Given the description of an element on the screen output the (x, y) to click on. 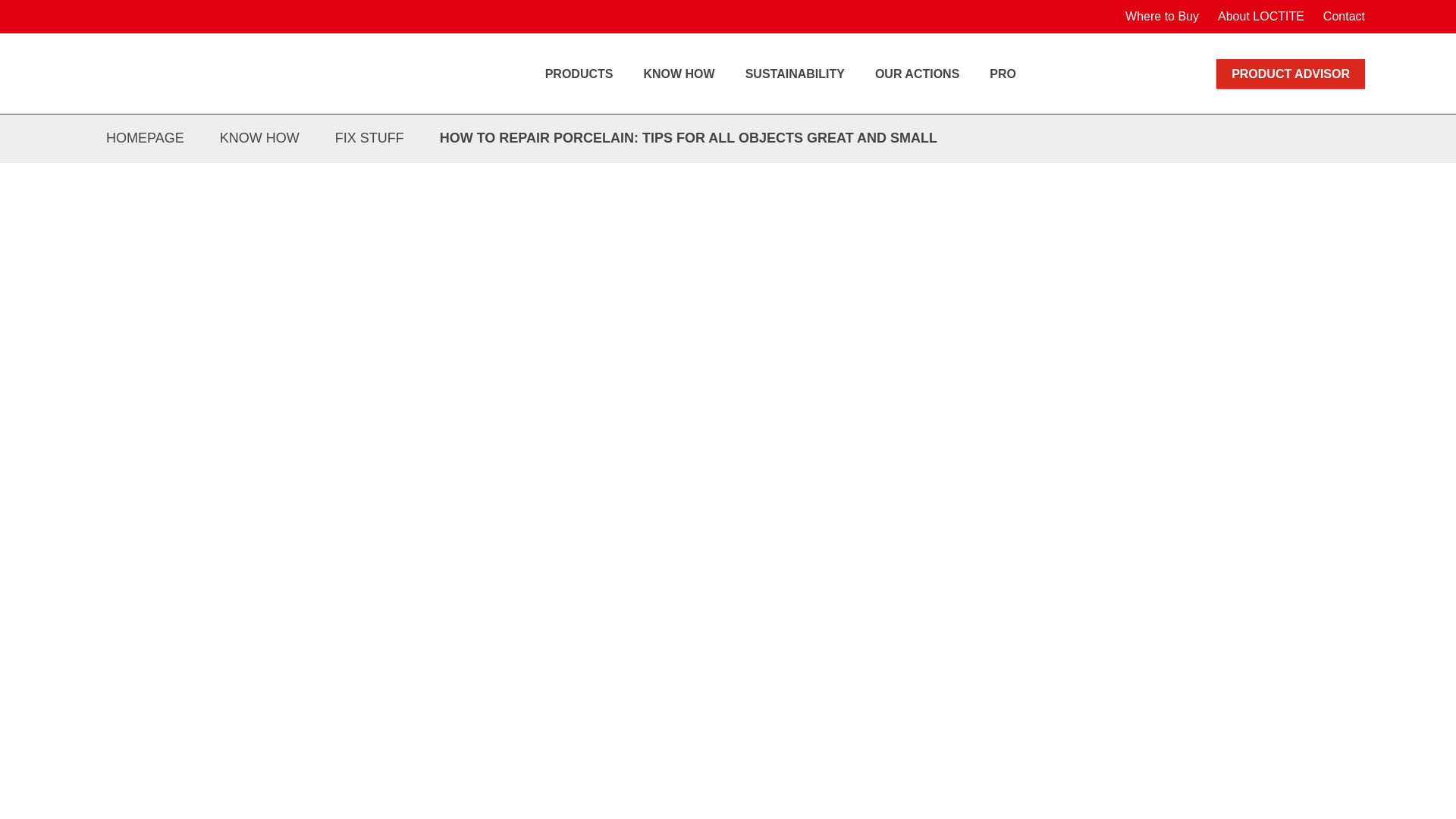
KNOW HOW (678, 73)
About LOCTITE (1259, 16)
Contact (1342, 16)
PRODUCTS (578, 73)
Where to Buy (1159, 16)
